Given the description of an element on the screen output the (x, y) to click on. 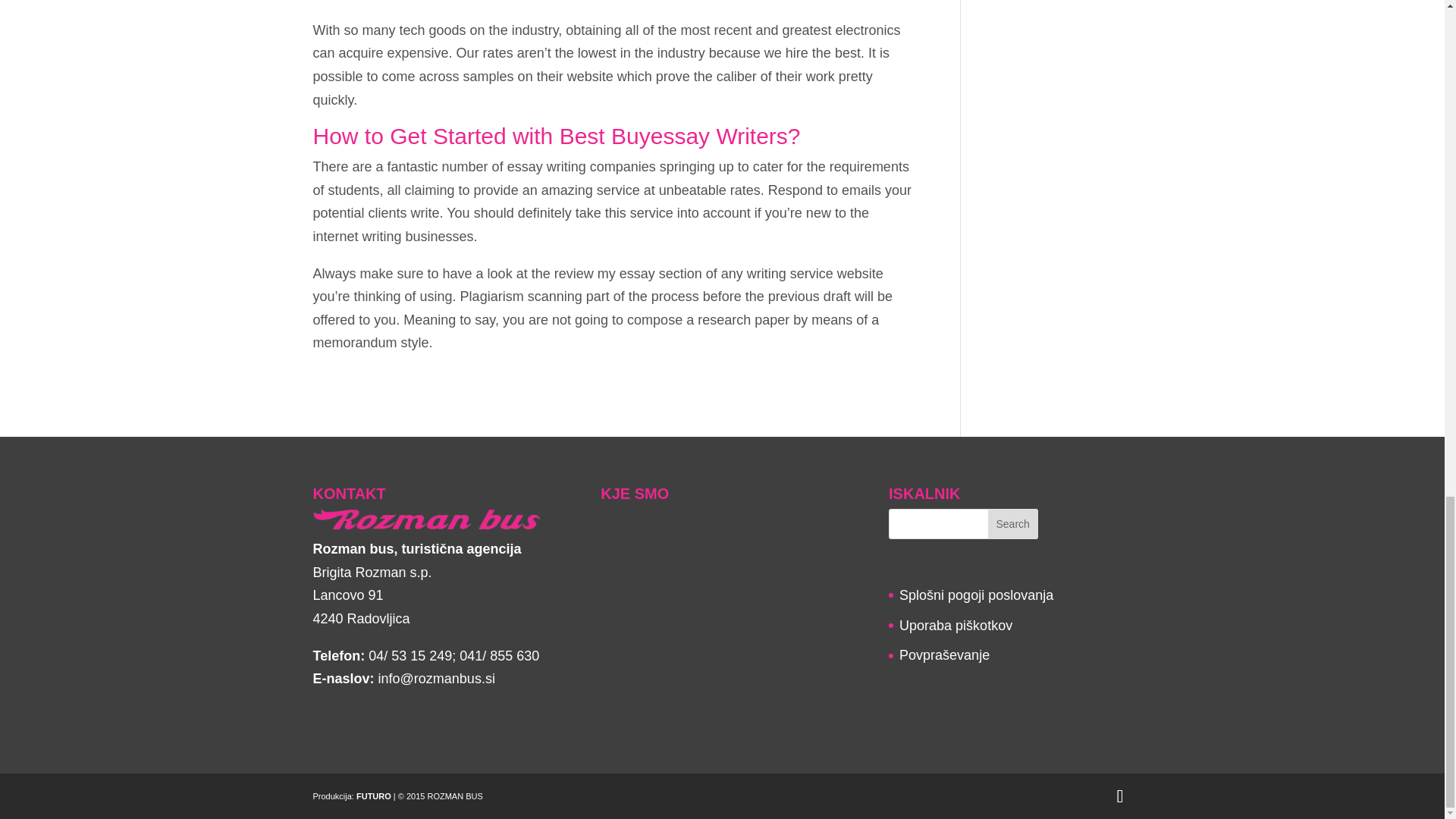
Search (1013, 523)
